Given the description of an element on the screen output the (x, y) to click on. 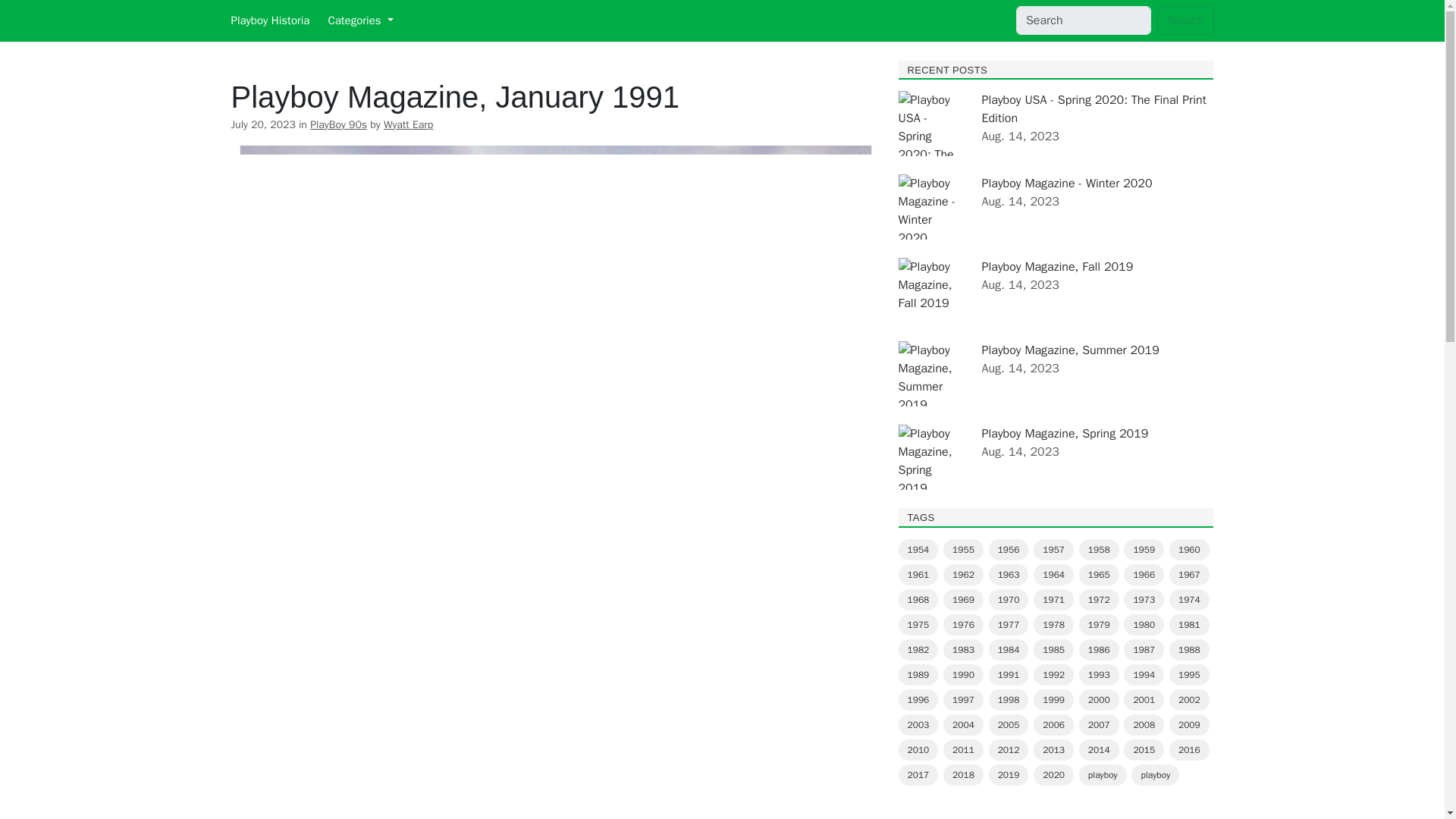
1959 (1143, 549)
1958 (1098, 549)
Playboy Magazine, Spring 2019 (1064, 433)
1961 (917, 574)
Categories (359, 20)
Playboy Historia (269, 20)
Playboy Magazine - Winter 2020 (1066, 183)
1960 (1189, 549)
PlayBoy 90s (338, 124)
1955 (963, 549)
Playboy Magazine, Summer 2019 (1069, 350)
Playboy Magazine, Fall 2019 (1056, 266)
1956 (1008, 549)
Search (1185, 20)
1957 (1053, 549)
